Given the description of an element on the screen output the (x, y) to click on. 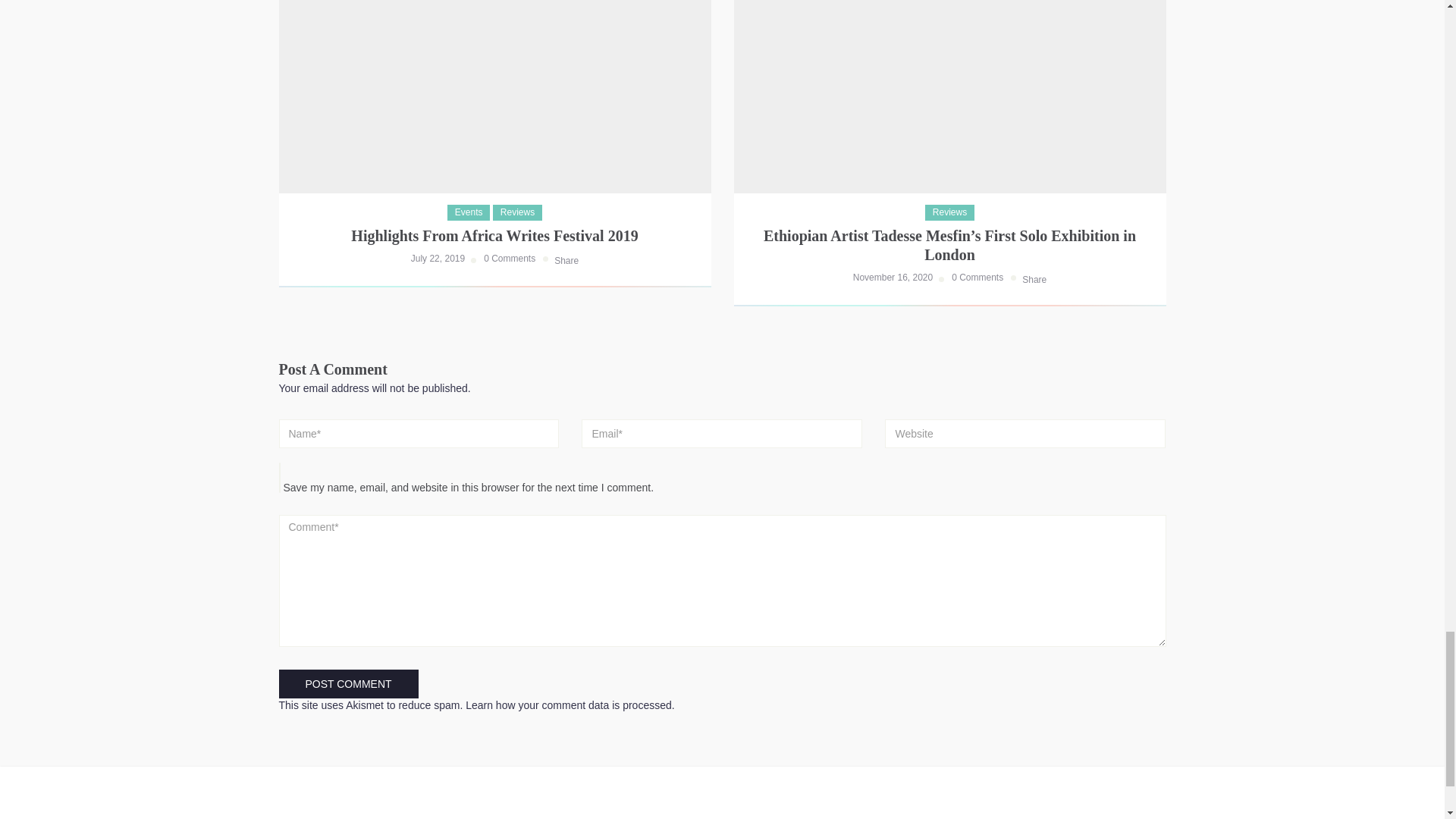
Post Comment (349, 683)
